Given the description of an element on the screen output the (x, y) to click on. 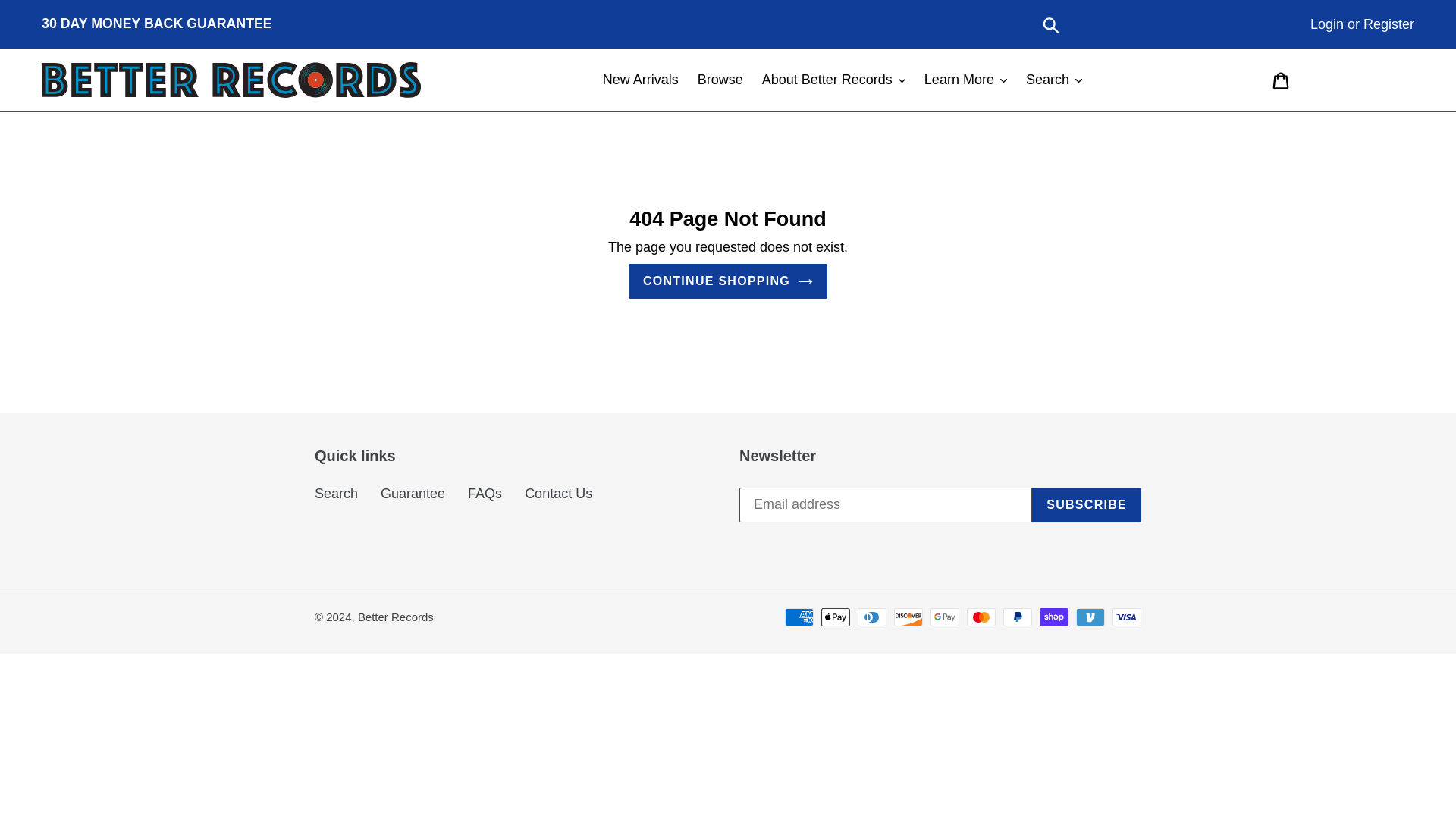
Login or Register (1361, 23)
New Arrivals (640, 79)
Cart (1281, 79)
Submit (1051, 23)
Browse (720, 79)
